Given the description of an element on the screen output the (x, y) to click on. 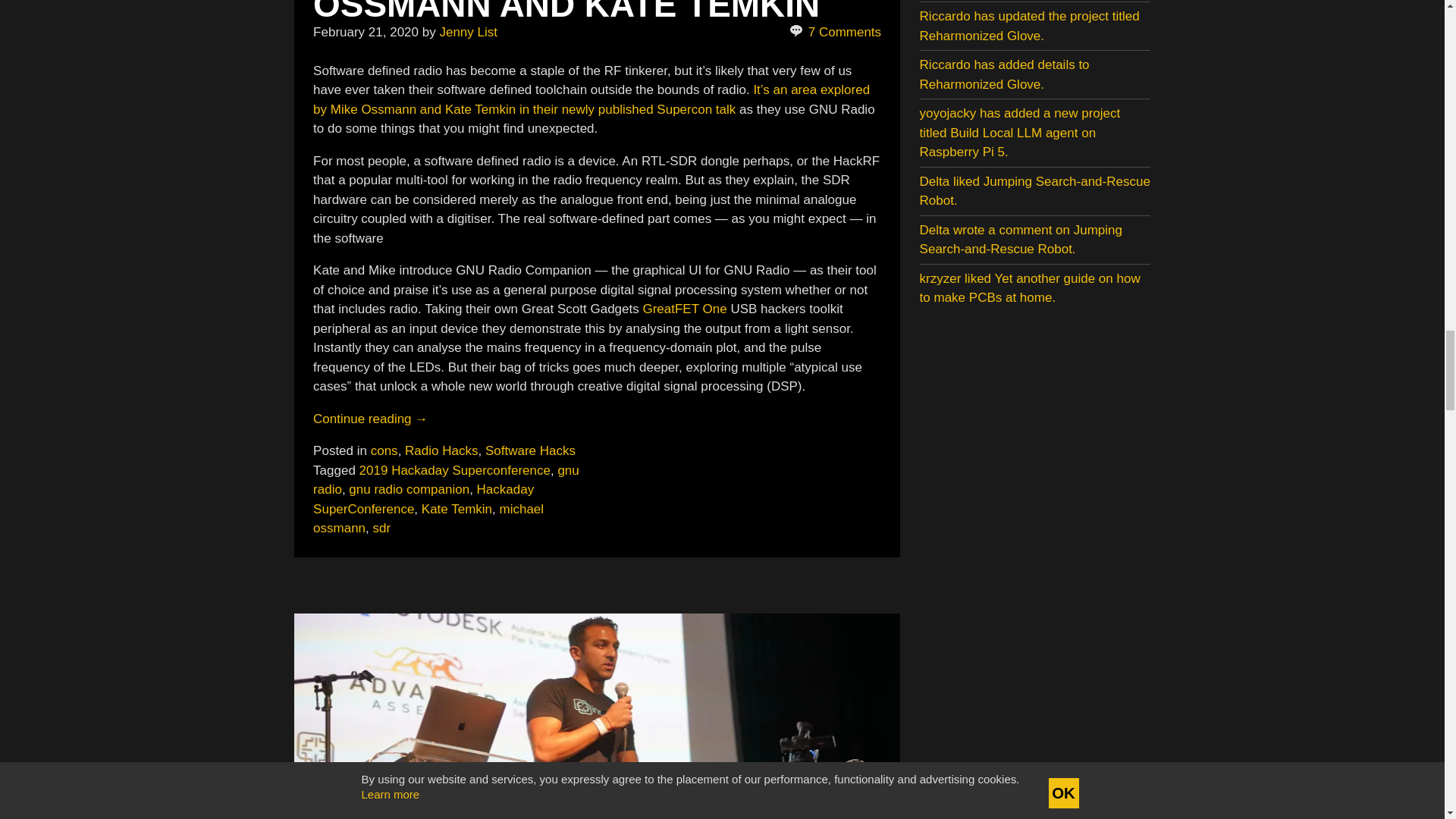
Posts by Jenny List (468, 32)
February 21, 2020 - 11:31 am (366, 32)
